Given the description of an element on the screen output the (x, y) to click on. 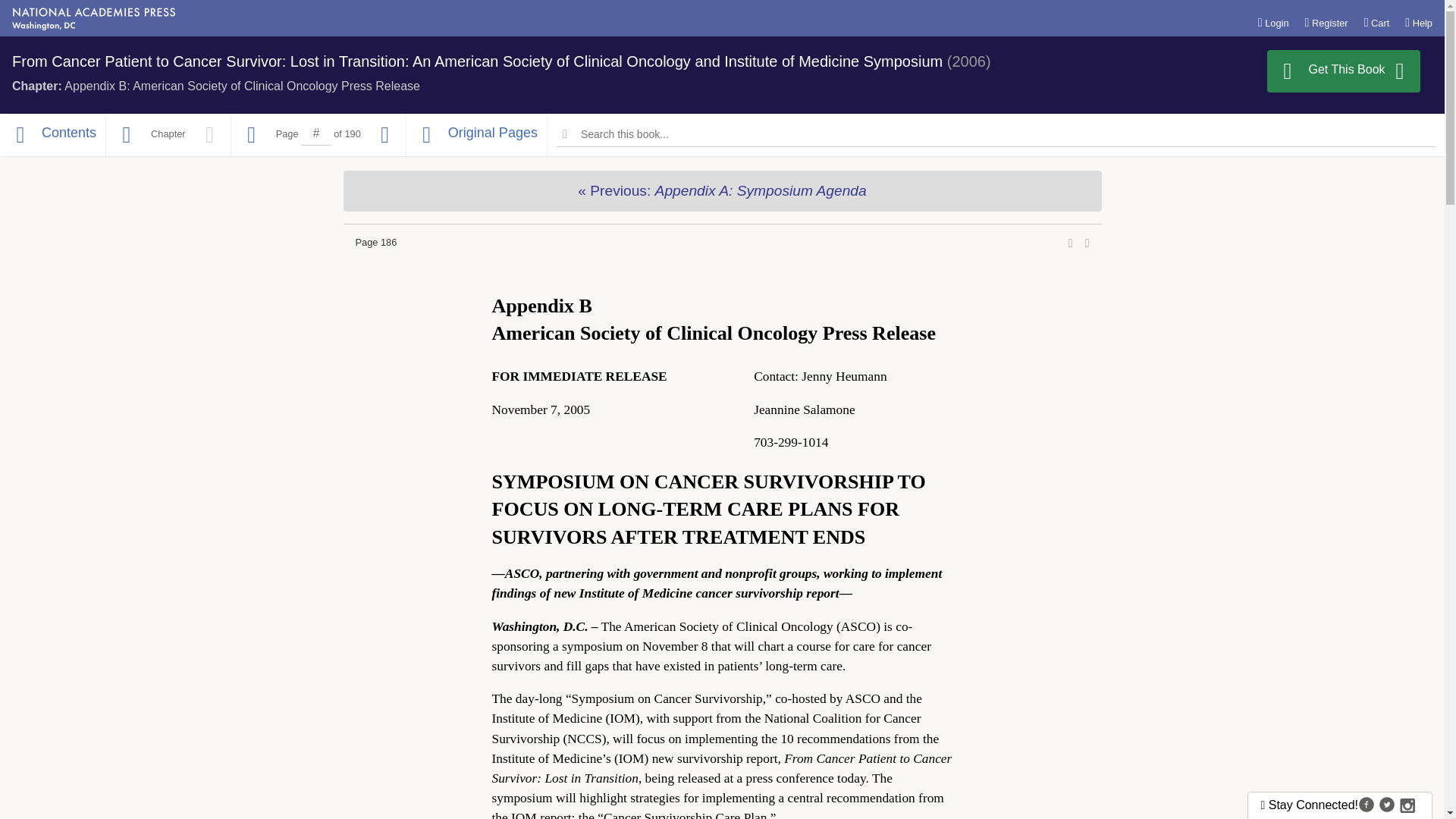
Cart (1377, 22)
Register (1326, 22)
Help (1418, 22)
Previous Chapter (721, 190)
Login (1272, 22)
